Given the description of an element on the screen output the (x, y) to click on. 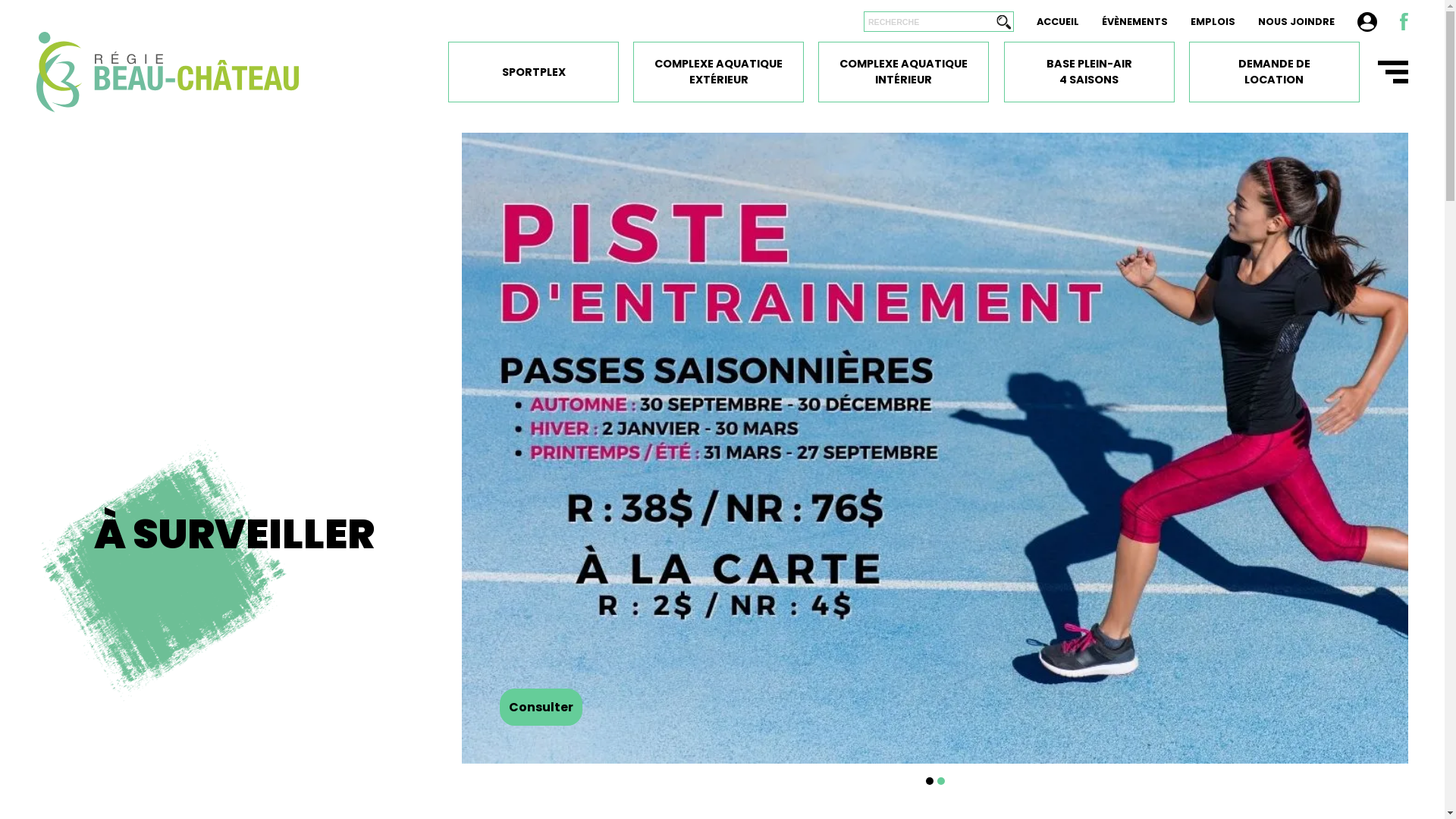
EMPLOIS Element type: text (1212, 21)
Consulter Element type: text (540, 706)
DEMANDE DE
LOCATION Element type: text (1274, 71)
SPORTPLEX Element type: text (533, 71)
NOUS JOINDRE Element type: text (1296, 21)
ACCUEIL Element type: text (1057, 21)
BASE PLEIN-AIR
4 SAISONS Element type: text (1089, 71)
